Given the description of an element on the screen output the (x, y) to click on. 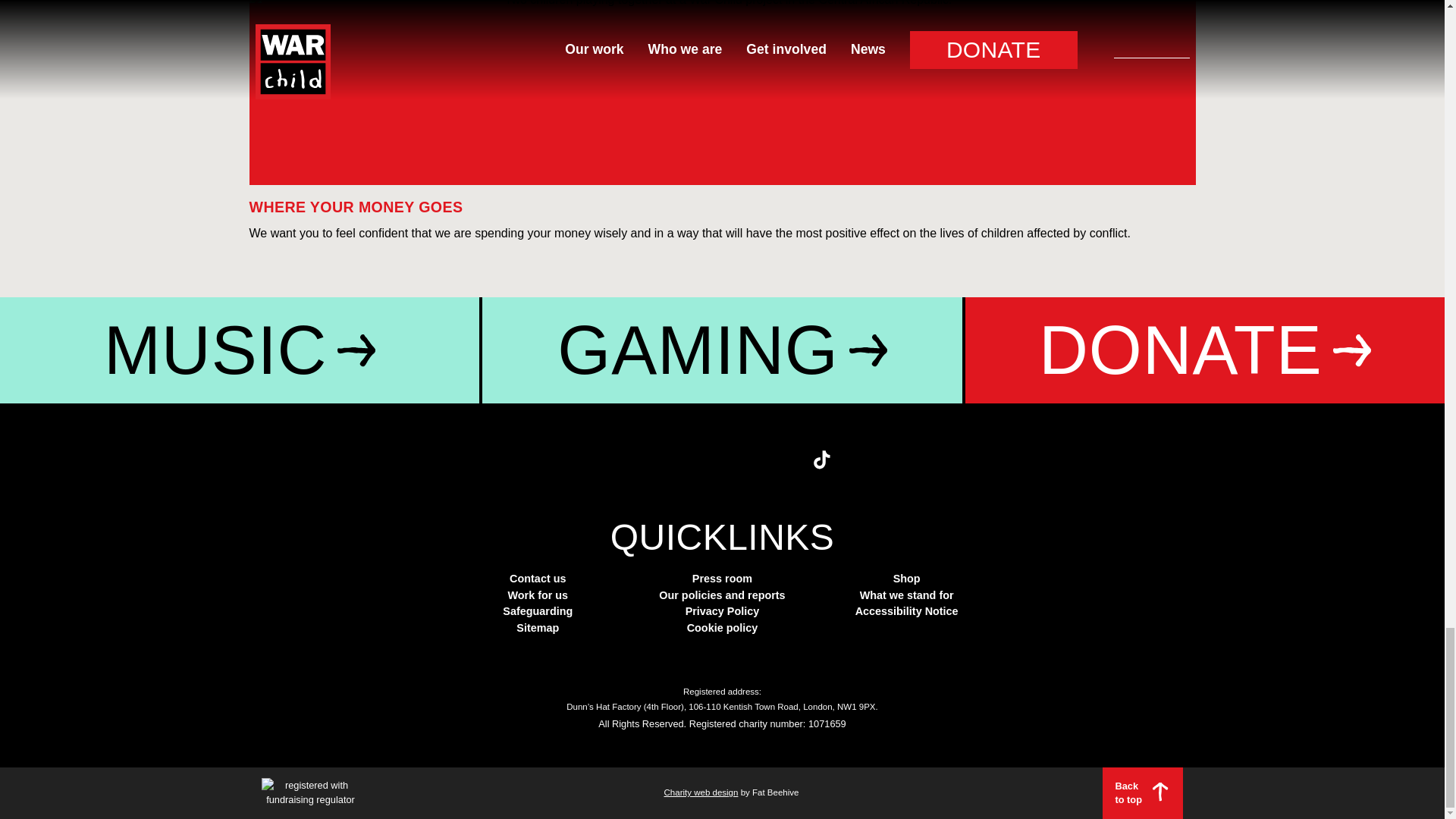
Facebook (659, 462)
Instagram (700, 462)
Linkedin (784, 462)
Youtube (742, 462)
Twitter (618, 462)
Tiktok (825, 462)
